Given the description of an element on the screen output the (x, y) to click on. 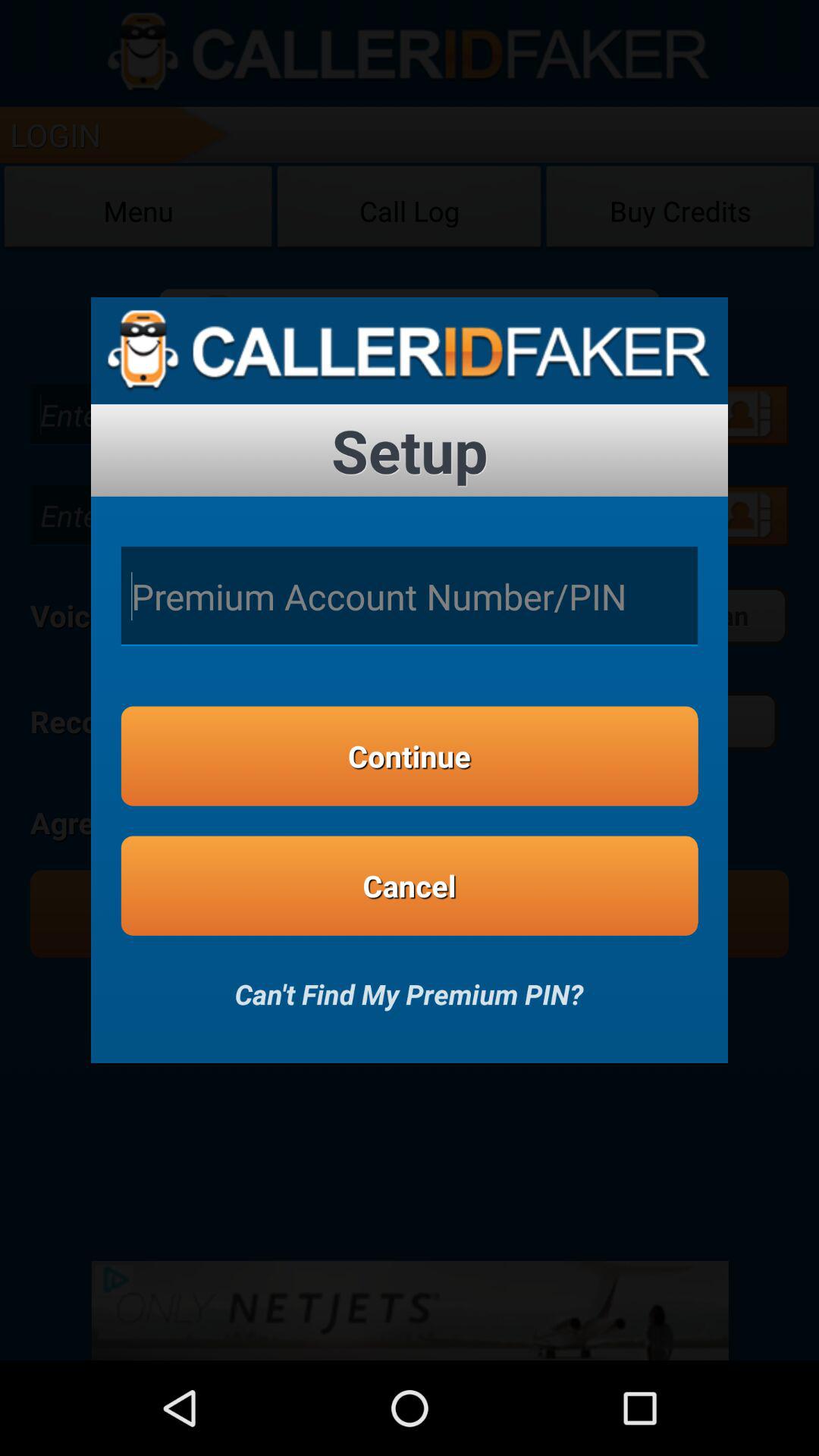
click the setup item (409, 450)
